Given the description of an element on the screen output the (x, y) to click on. 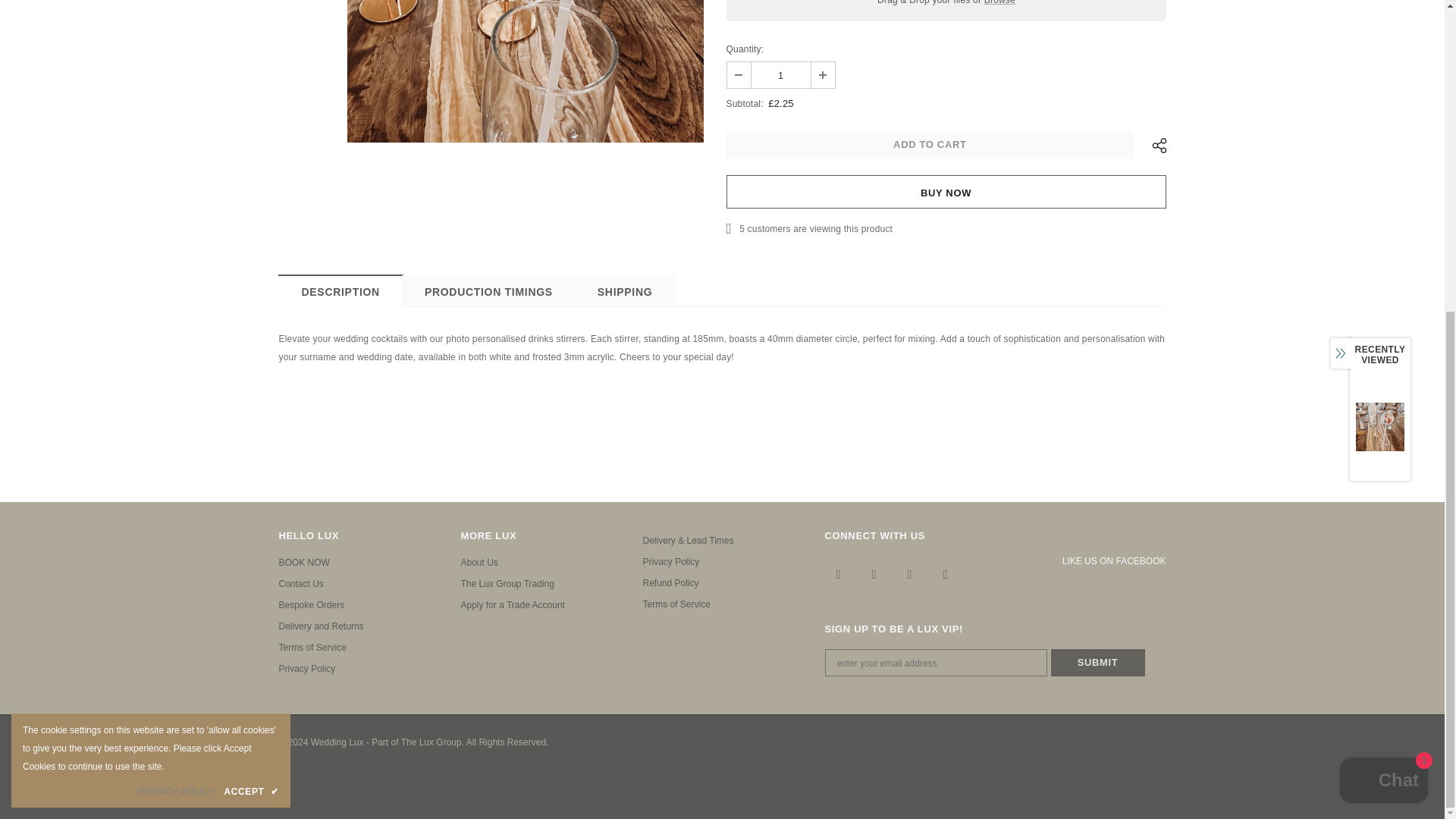
Submit (1097, 662)
Add to cart (930, 144)
BOOK NOW (304, 562)
Bespoke Orders (312, 604)
Contact Us (301, 583)
1 (780, 74)
